Given the description of an element on the screen output the (x, y) to click on. 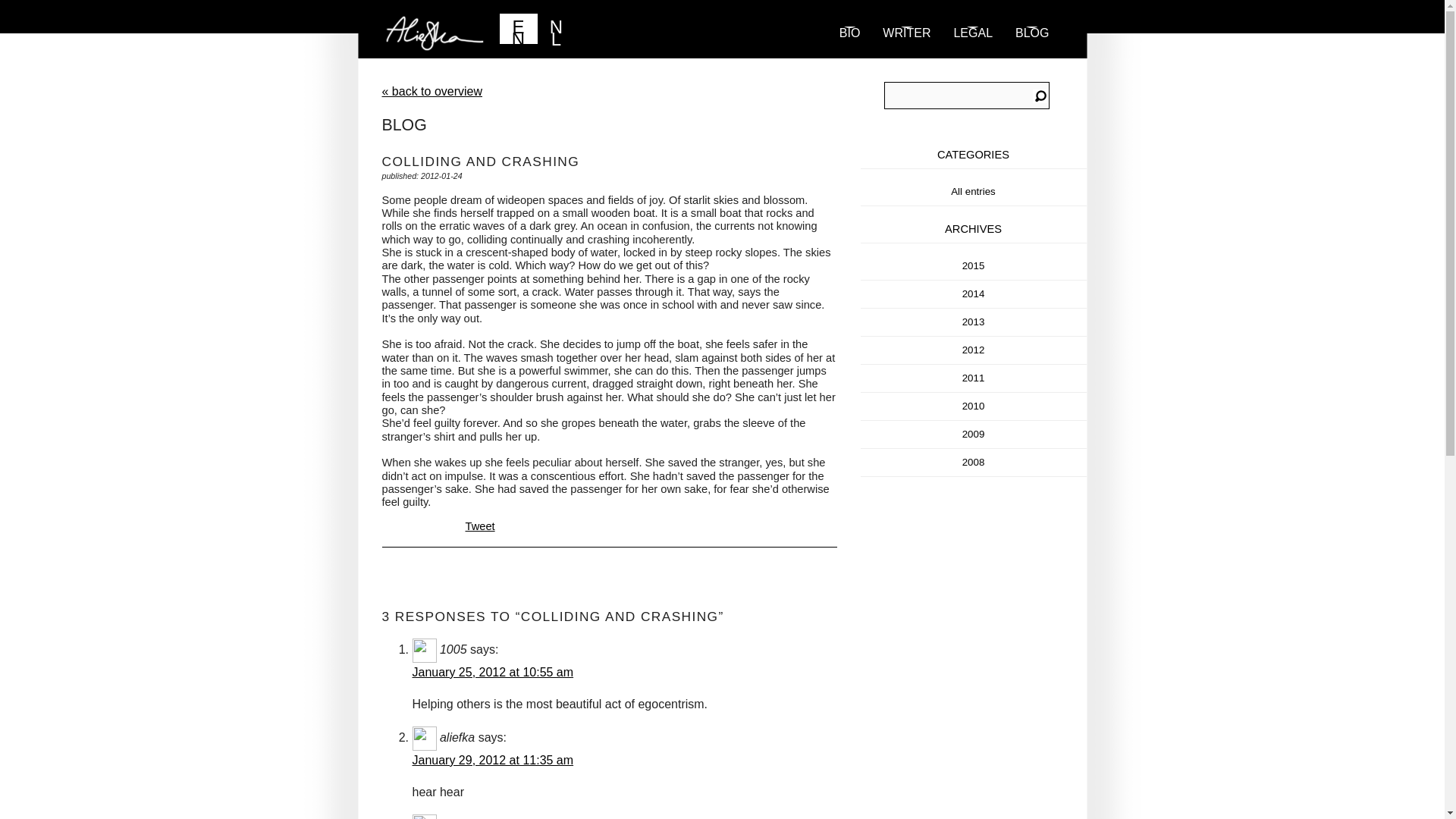
Year 2015 archives (973, 265)
Aliefka (554, 34)
Legal (973, 48)
Tweet (480, 526)
Year 2013 archives (973, 321)
BLOG (1031, 48)
January 25, 2012 at 10:55 am (492, 671)
NL (556, 28)
Year 2012 archives (973, 349)
Bio (850, 48)
Year 2008 archives (973, 461)
WRITER (906, 48)
EN (518, 28)
Search (1040, 96)
Portfolio (906, 48)
